Given the description of an element on the screen output the (x, y) to click on. 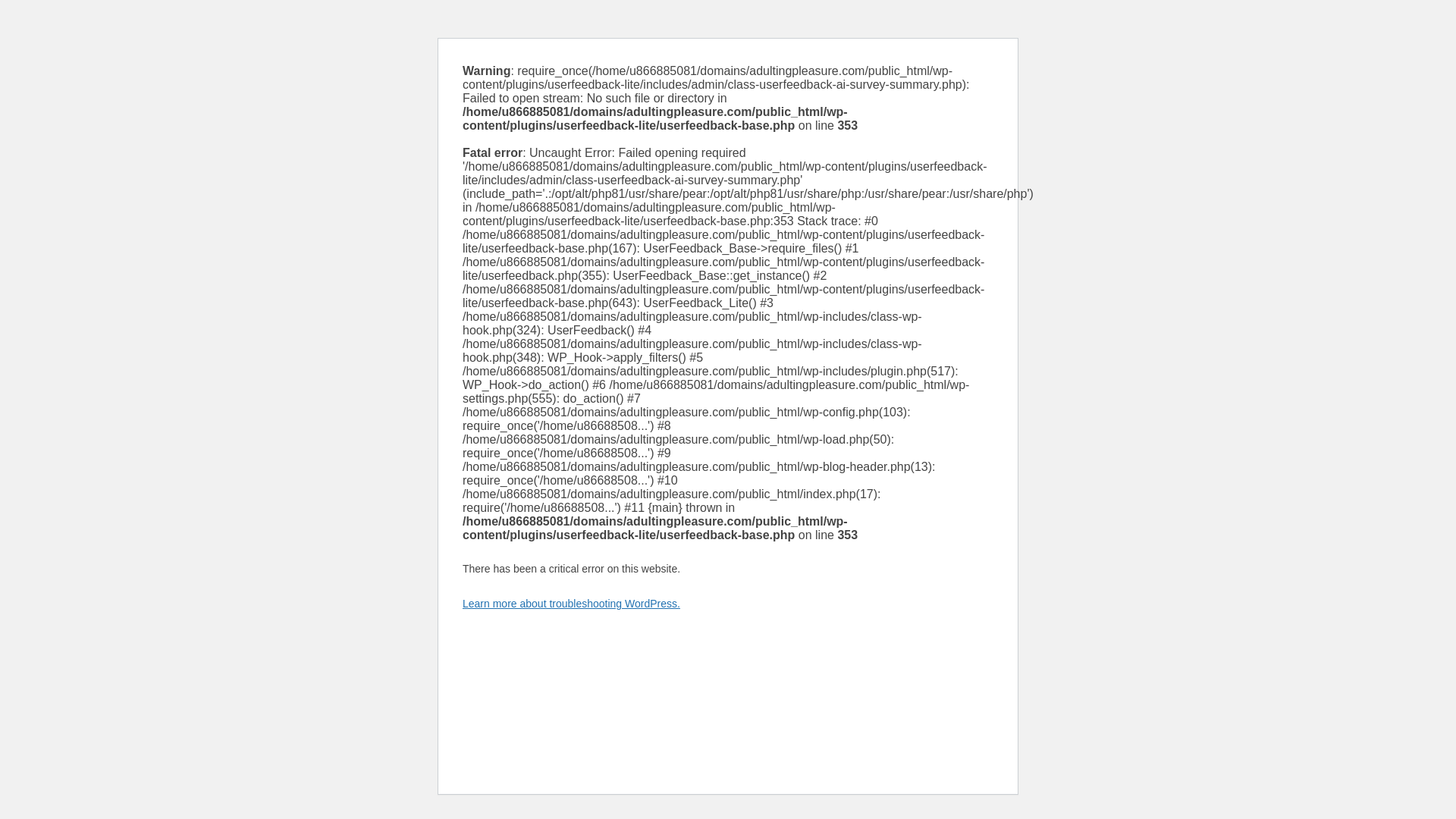
Learn more about troubleshooting WordPress. (571, 603)
